Given the description of an element on the screen output the (x, y) to click on. 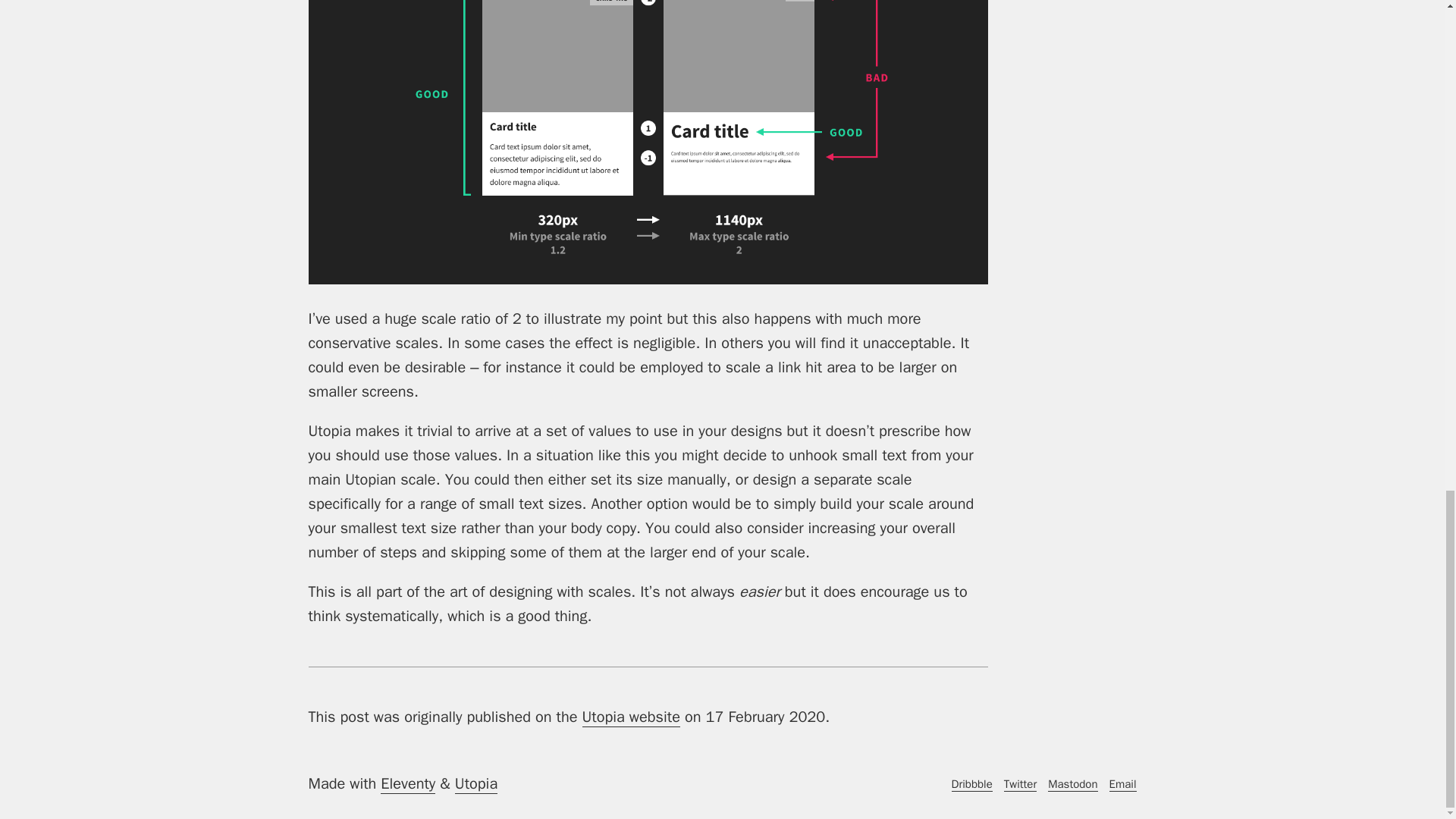
Eleventy (407, 783)
Utopia website (630, 717)
Utopia (475, 783)
